Given the description of an element on the screen output the (x, y) to click on. 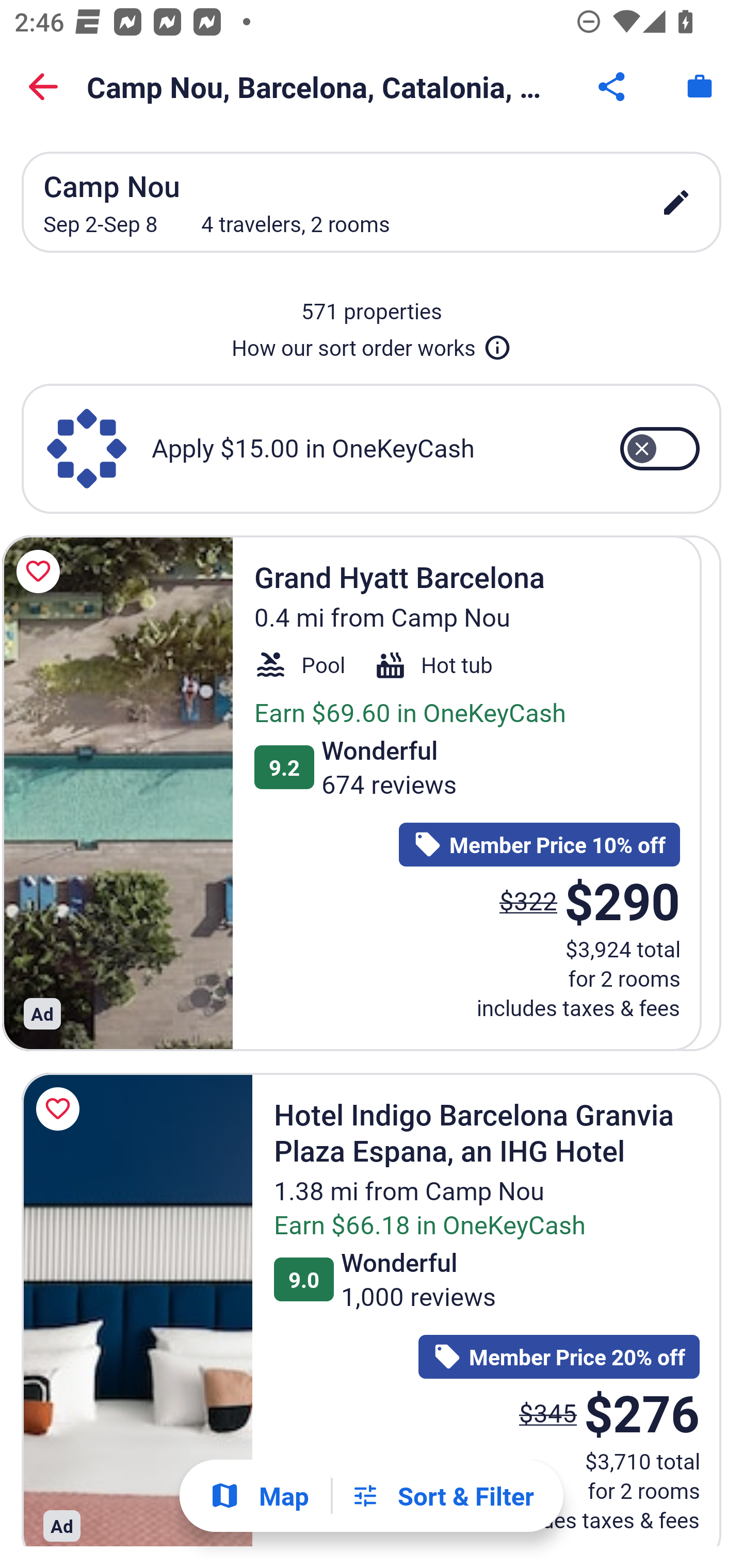
Back (43, 86)
Share Button (612, 86)
Trips. Button (699, 86)
Camp Nou Sep 2-Sep 8 4 travelers, 2 rooms edit (371, 202)
How our sort order works (371, 344)
Save Grand Hyatt Barcelona to a trip (61, 571)
Grand Hyatt Barcelona (136, 792)
$322 The price was $322 (547, 900)
$345 The price was $345 (547, 1412)
Filters Sort & Filter Filters Button (442, 1495)
Show map Map Show map Button (258, 1495)
